Given the description of an element on the screen output the (x, y) to click on. 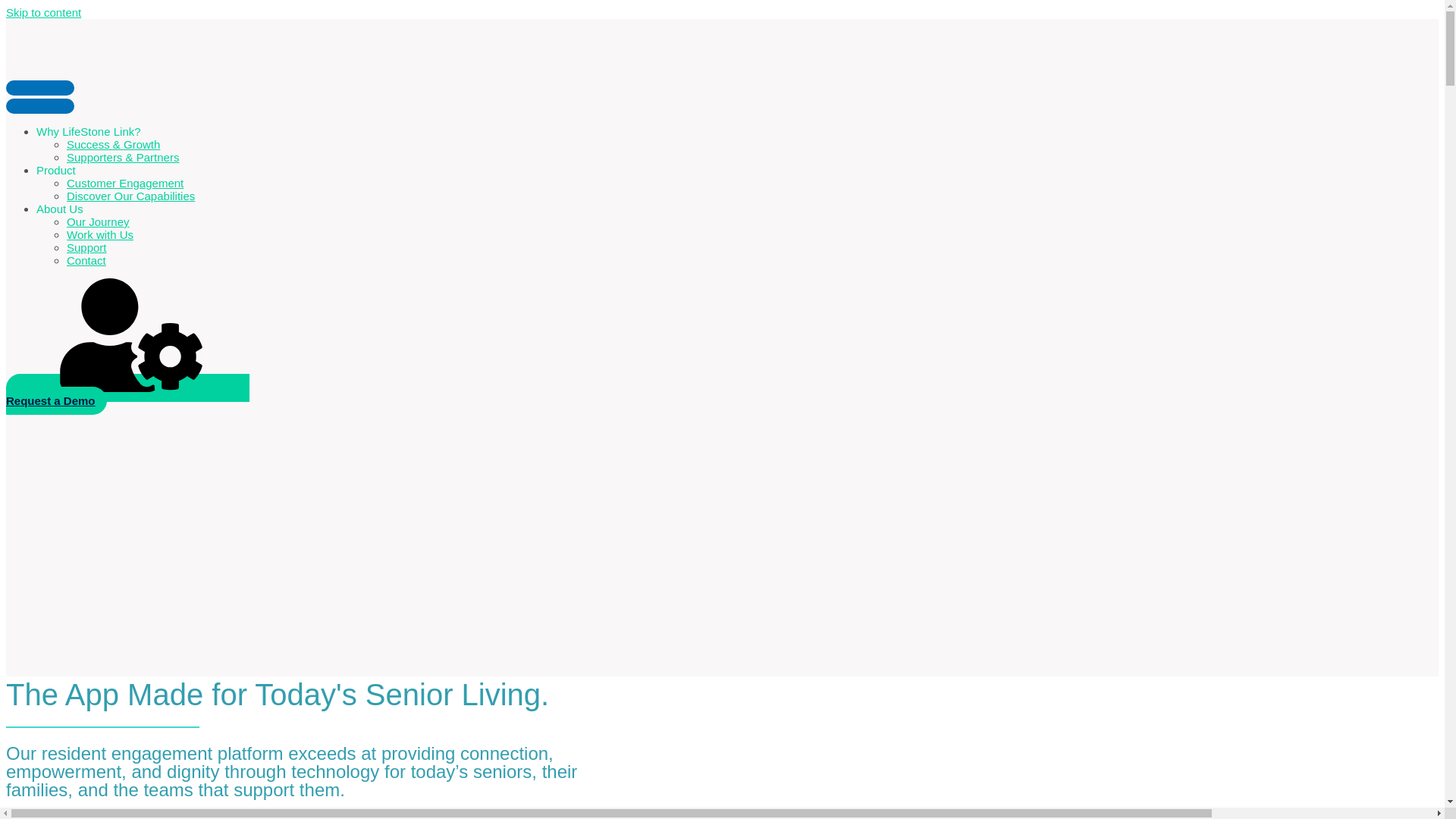
Request a Demo (126, 393)
Work with Us (99, 234)
Skip to content (43, 11)
About Us (59, 208)
Skip to content (43, 11)
Why LifeStone Link? (88, 131)
Customer Engagement (124, 182)
Our Journey (97, 221)
Support (86, 246)
Discover Our Capabilities (130, 195)
Contact (86, 259)
Product (55, 169)
